Given the description of an element on the screen output the (x, y) to click on. 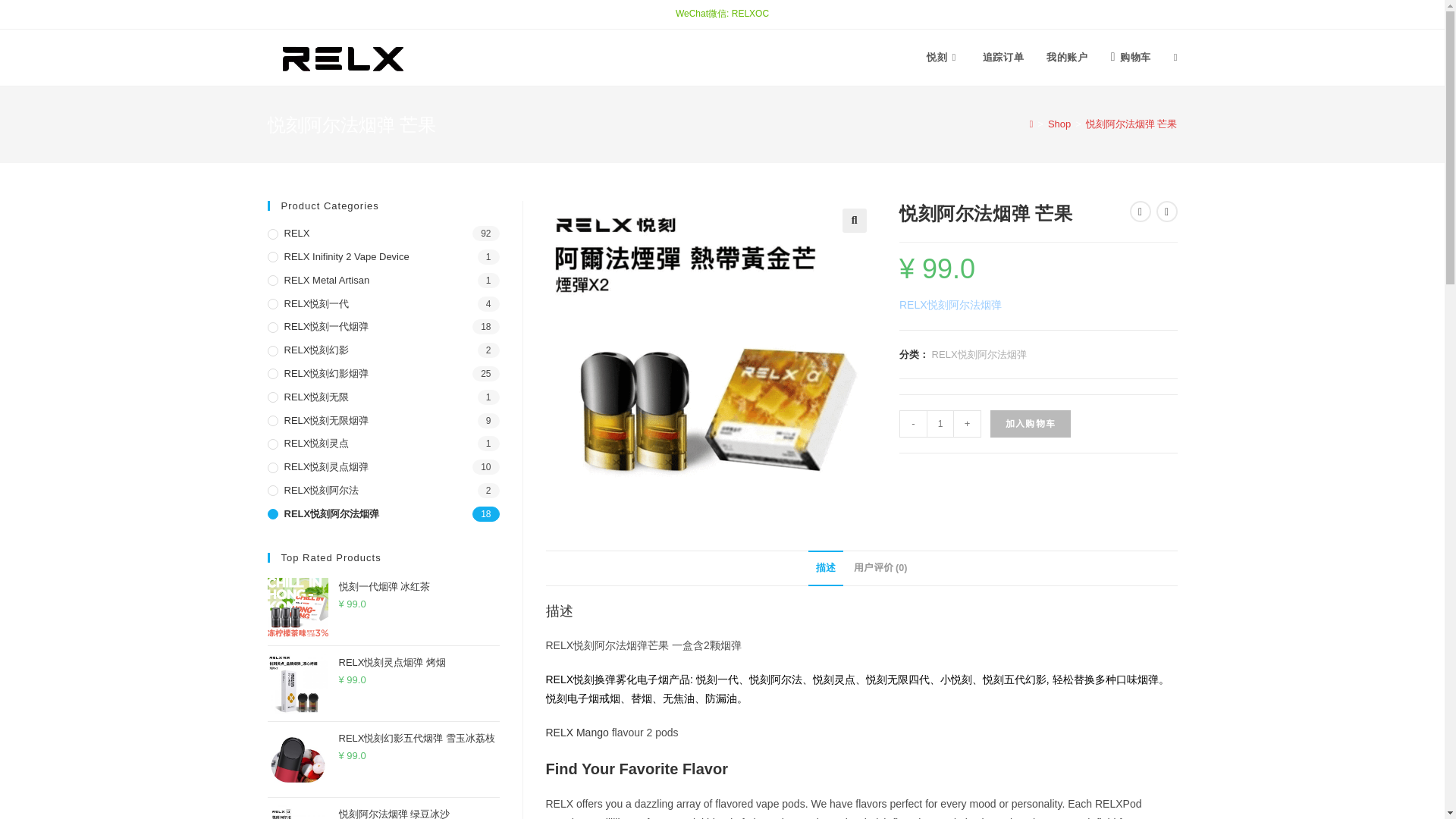
Shop (1059, 123)
1 (939, 423)
2235 (1117, 24)
